Given the description of an element on the screen output the (x, y) to click on. 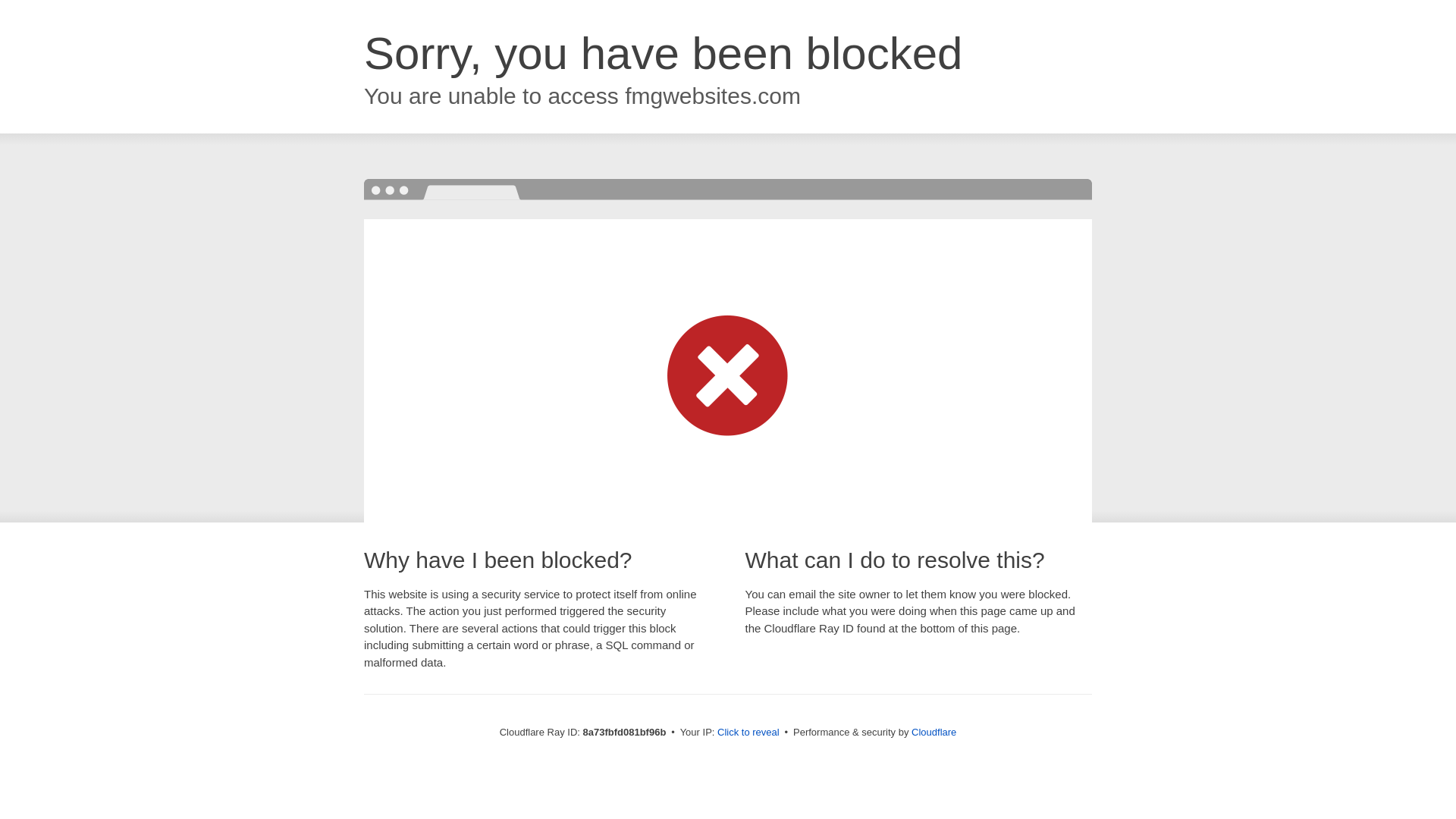
Cloudflare (933, 731)
Click to reveal (747, 732)
